Given the description of an element on the screen output the (x, y) to click on. 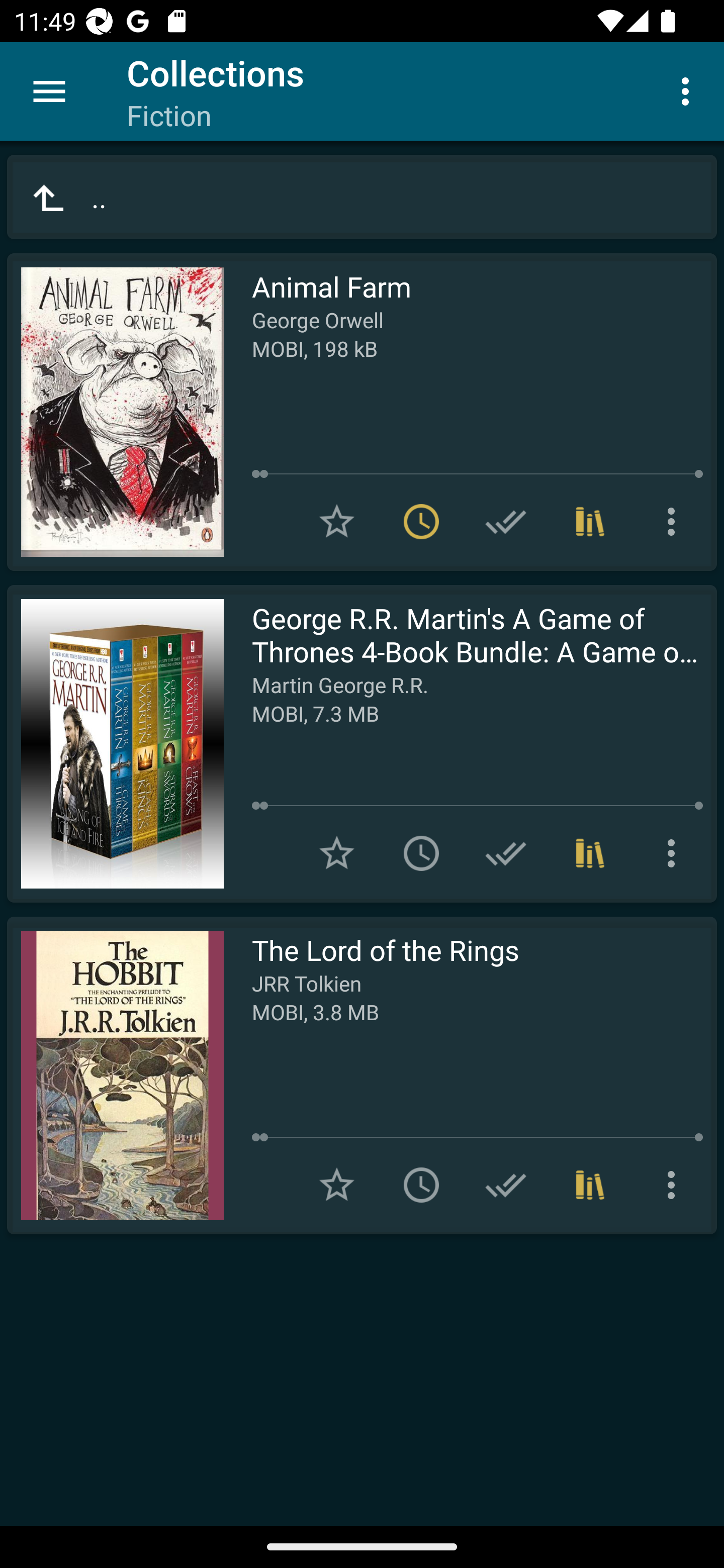
Menu (49, 91)
More options (688, 90)
.. (361, 197)
Read Animal Farm (115, 412)
Add to Favorites (336, 521)
Remove from To read (421, 521)
Add to Have read (505, 521)
Collections (1) (590, 521)
More options (674, 521)
Add to Favorites (336, 852)
Add to To read (421, 852)
Add to Have read (505, 852)
Collections (1) (590, 852)
More options (674, 852)
Read The Lord of the Rings (115, 1075)
Add to Favorites (336, 1185)
Add to To read (421, 1185)
Add to Have read (505, 1185)
Collections (1) (590, 1185)
More options (674, 1185)
